Given the description of an element on the screen output the (x, y) to click on. 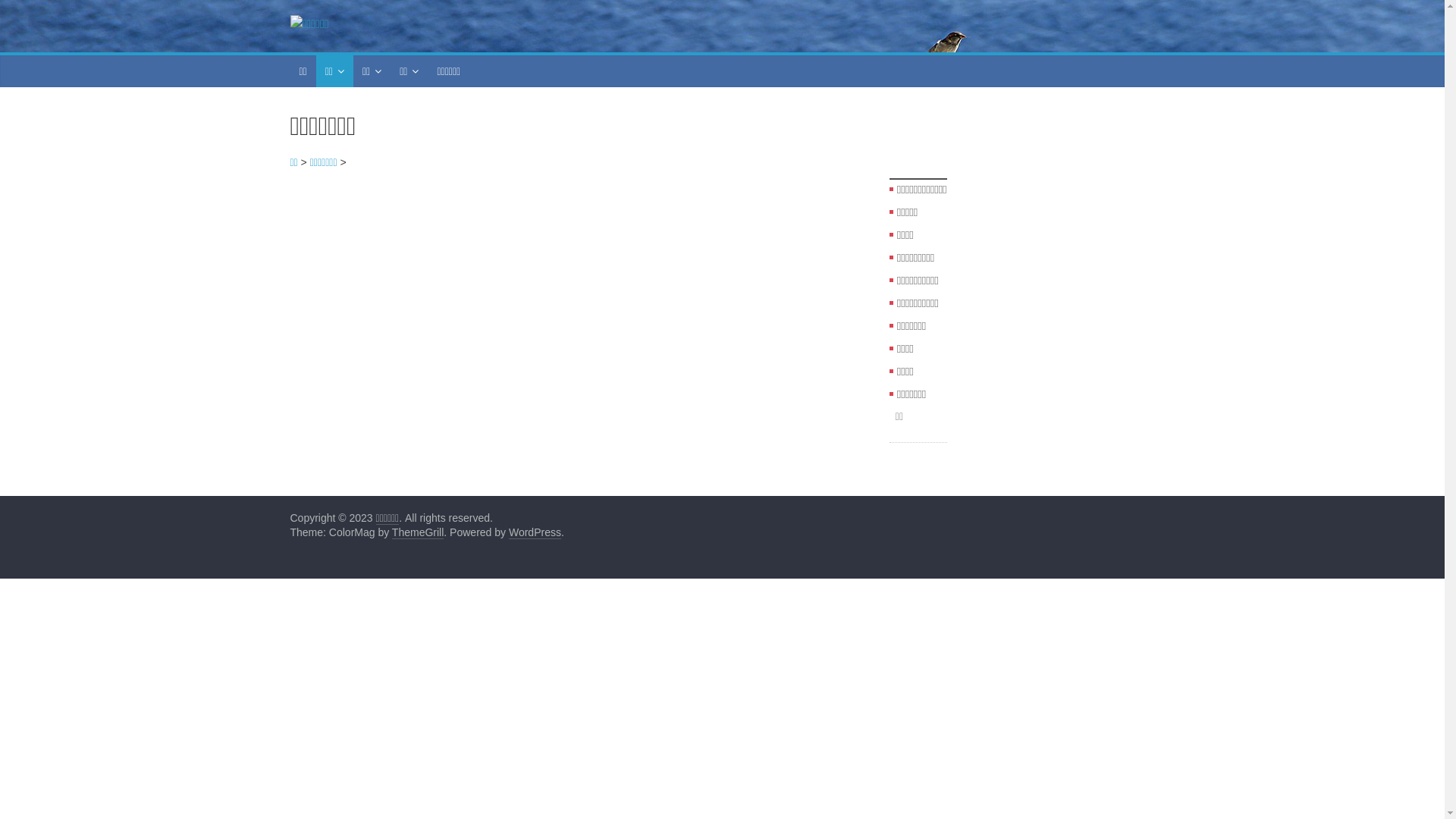
ThemeGrill Element type: text (417, 532)
WordPress Element type: text (534, 532)
